Given the description of an element on the screen output the (x, y) to click on. 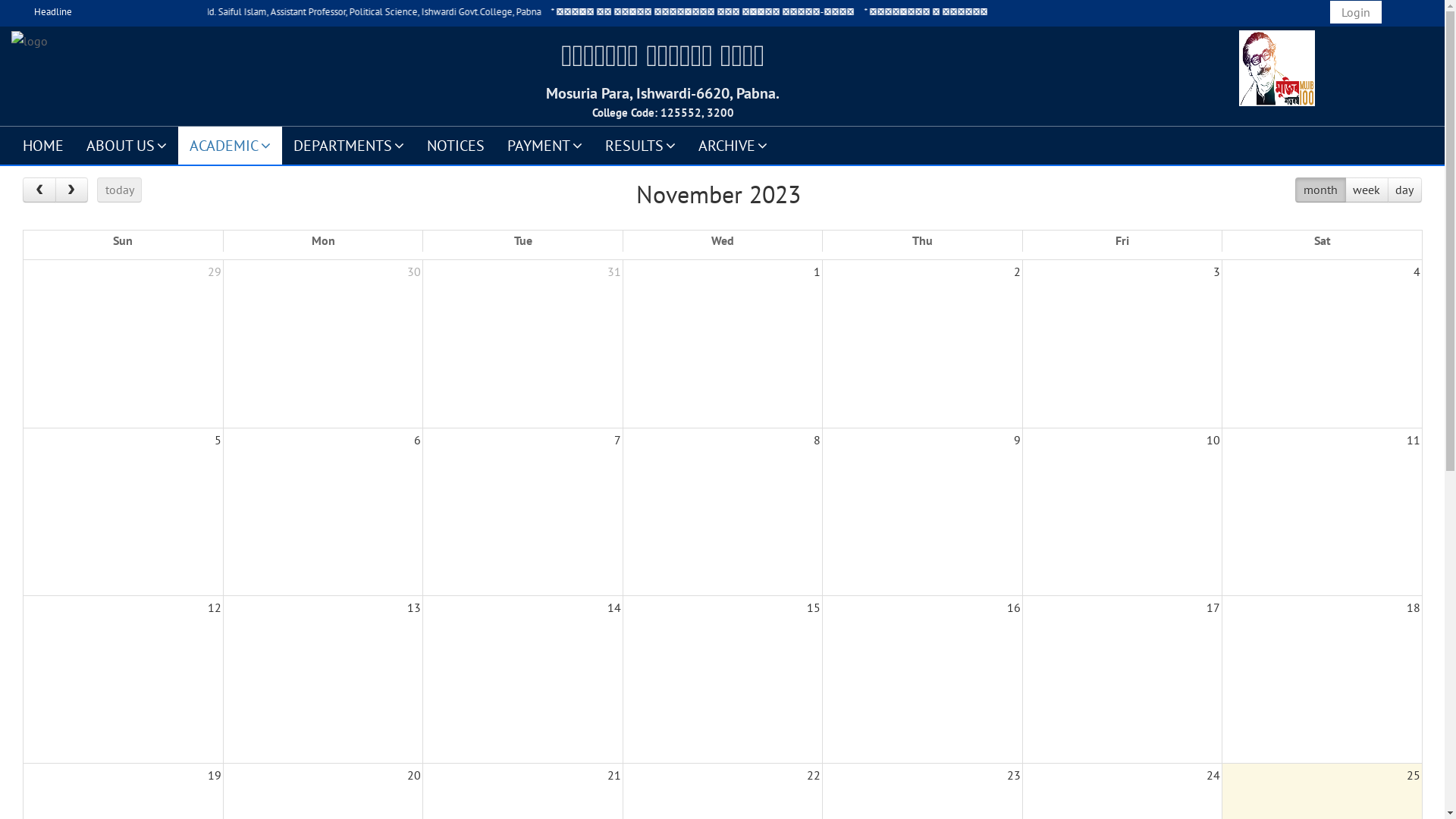
day Element type: text (1404, 190)
ACADEMIC Element type: text (230, 144)
Login Element type: text (1355, 11)
today Element type: text (119, 190)
HOME Element type: text (43, 144)
month Element type: text (1320, 190)
ABOUT US Element type: text (126, 144)
ARCHIVE Element type: text (732, 144)
RESULTS Element type: text (640, 144)
DEPARTMENTS Element type: text (348, 144)
week Element type: text (1366, 190)
General Notice :: Element type: text (416, 11)
NOTICES Element type: text (455, 144)
PAYMENT Element type: text (544, 144)
